Given the description of an element on the screen output the (x, y) to click on. 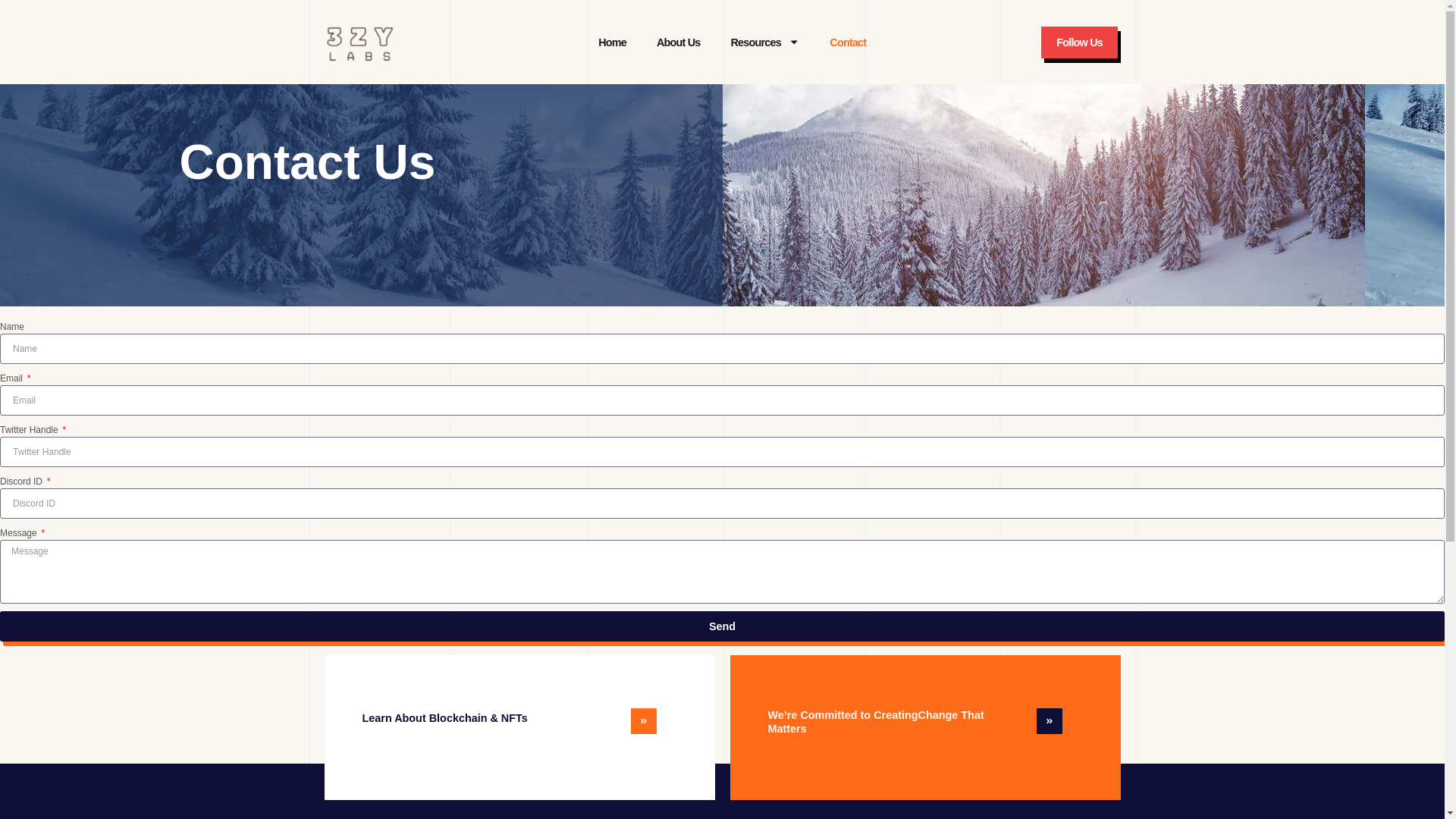
About Us Element type: text (678, 42)
Resources Element type: text (765, 42)
Contact Element type: text (847, 42)
Follow Us Element type: text (1079, 42)
Home Element type: text (612, 42)
Send Element type: text (722, 626)
